Given the description of an element on the screen output the (x, y) to click on. 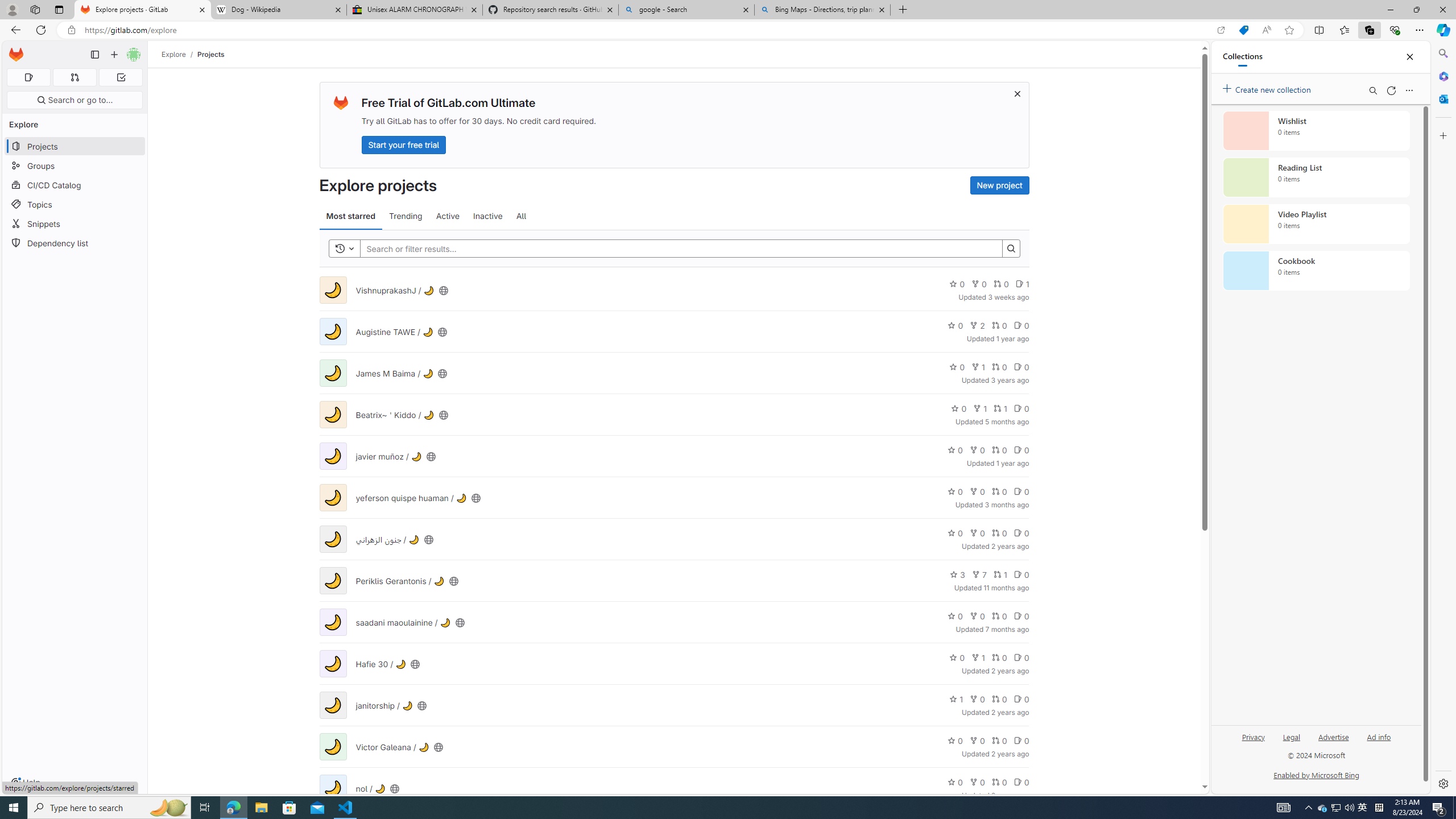
2 (977, 325)
Snippets (74, 223)
Dependency list (74, 242)
Projects (211, 53)
Topics (74, 203)
0 (1021, 781)
Trending (405, 216)
